Given the description of an element on the screen output the (x, y) to click on. 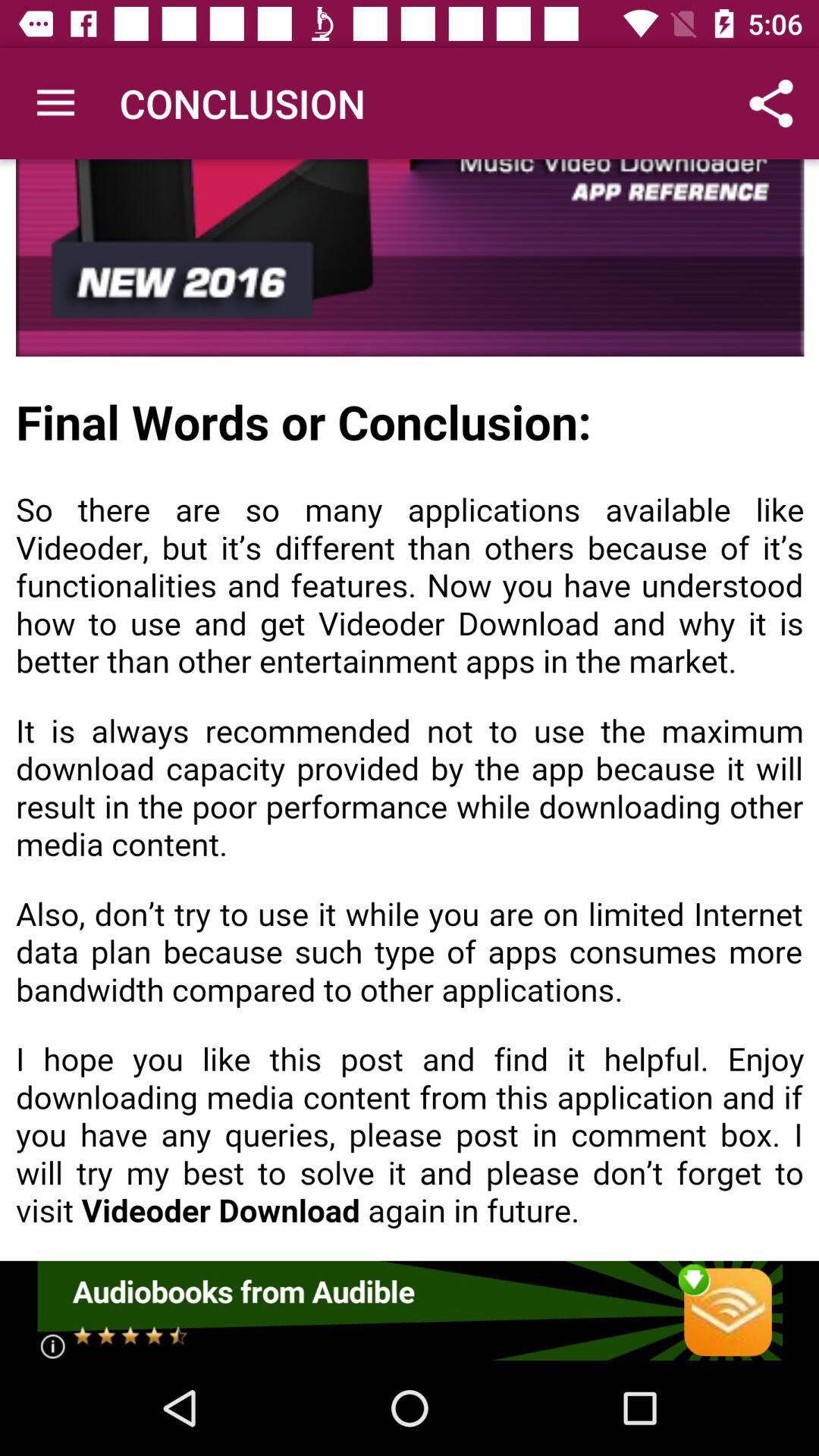
rate menu (408, 1310)
